Given the description of an element on the screen output the (x, y) to click on. 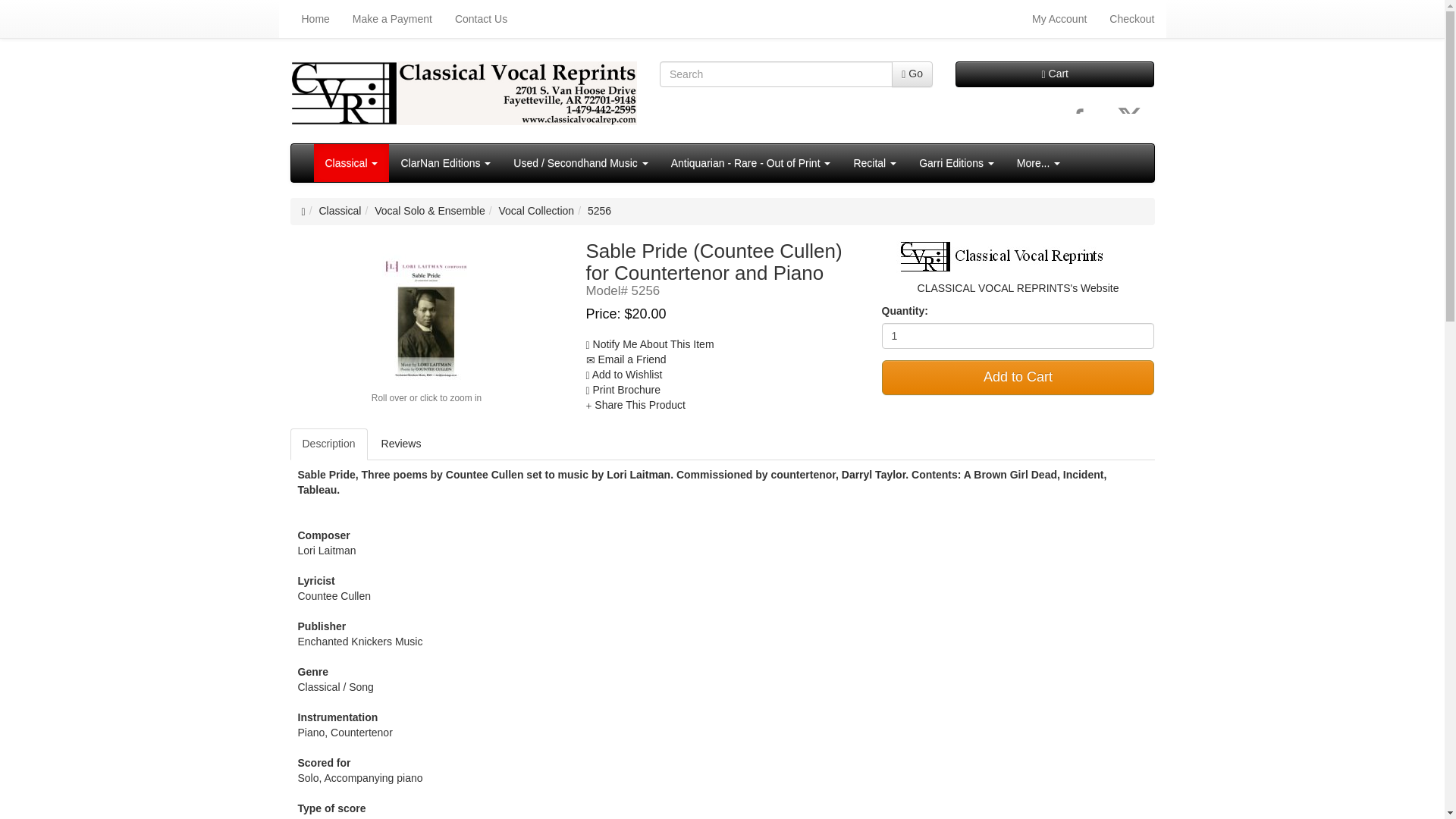
Home (314, 18)
Lori Laitman (638, 474)
 CLASSICAL VOCAL REPRINTS  (1017, 256)
More... (1038, 162)
Go (912, 73)
1 (1017, 335)
Darryl Taylor (873, 474)
Antiquarian - Rare - Out of Print (751, 162)
Checkout (1131, 18)
My Account (1058, 18)
